Given the description of an element on the screen output the (x, y) to click on. 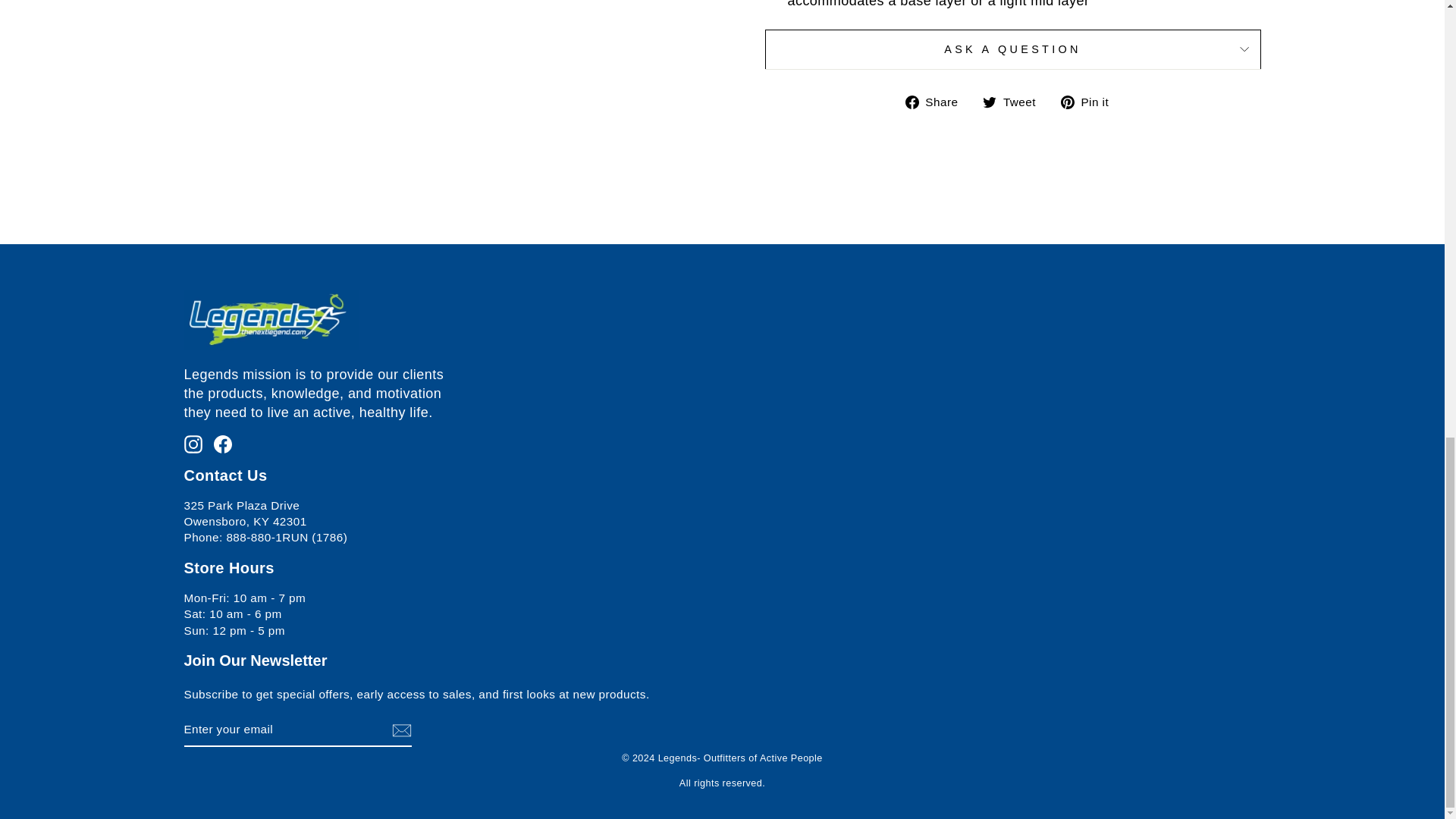
Legends- Outfitters of Active People on Instagram (192, 443)
Share on Facebook (937, 101)
Legends- Outfitters of Active People on Facebook (222, 443)
Pin on Pinterest (1090, 101)
Tweet on Twitter (1014, 101)
